Given the description of an element on the screen output the (x, y) to click on. 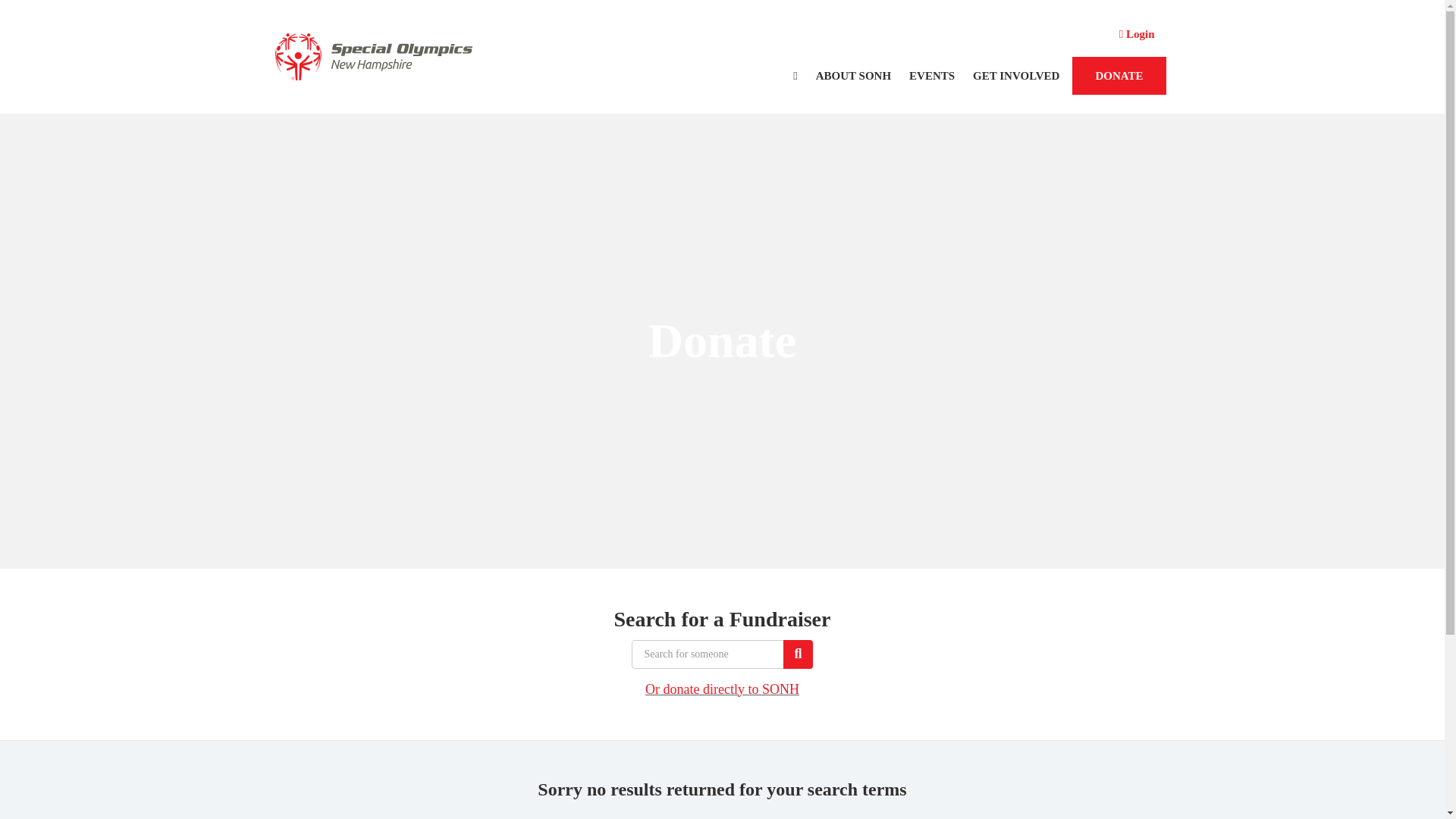
DONATE (1118, 75)
ABOUT SONH (852, 75)
GET INVOLVED (1015, 75)
Login (1136, 34)
EVENTS (931, 75)
